Given the description of an element on the screen output the (x, y) to click on. 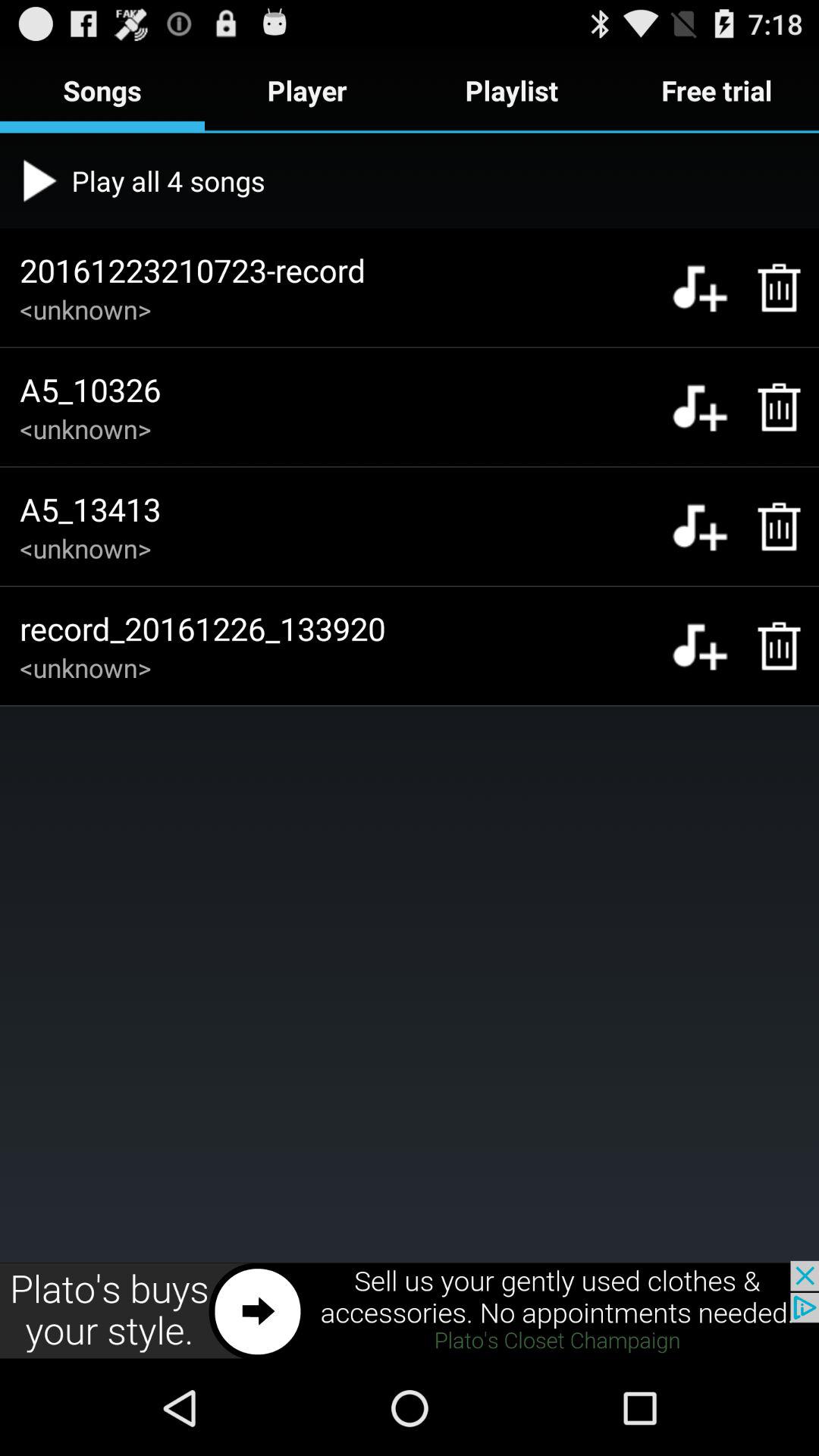
delete song (771, 407)
